Given the description of an element on the screen output the (x, y) to click on. 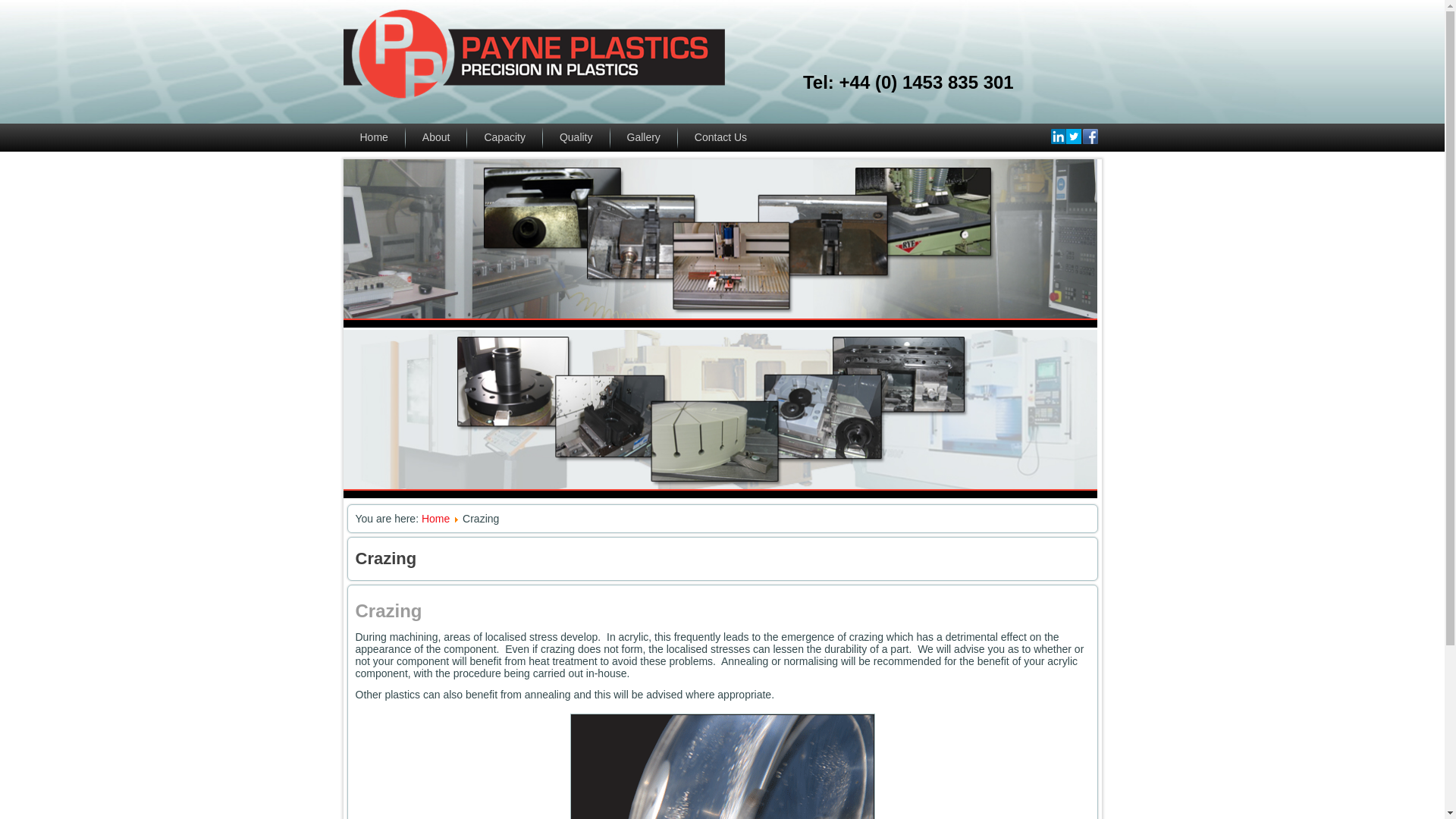
Quality (576, 137)
About (436, 137)
Capacity (504, 137)
Home (373, 137)
Contact Us (720, 137)
Home (435, 518)
Gallery (643, 137)
